Given the description of an element on the screen output the (x, y) to click on. 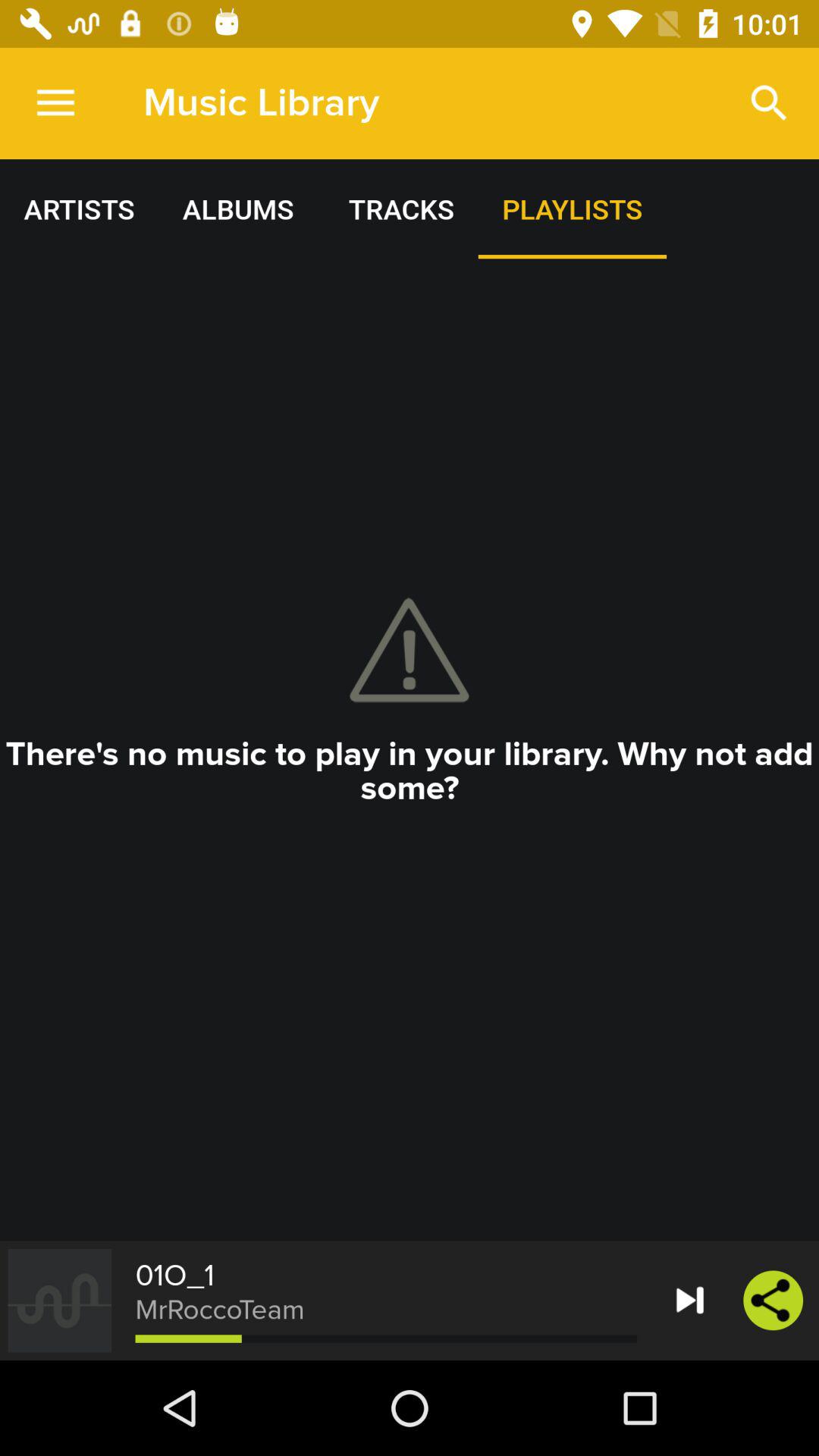
choose the item to the right of music library icon (769, 102)
